Given the description of an element on the screen output the (x, y) to click on. 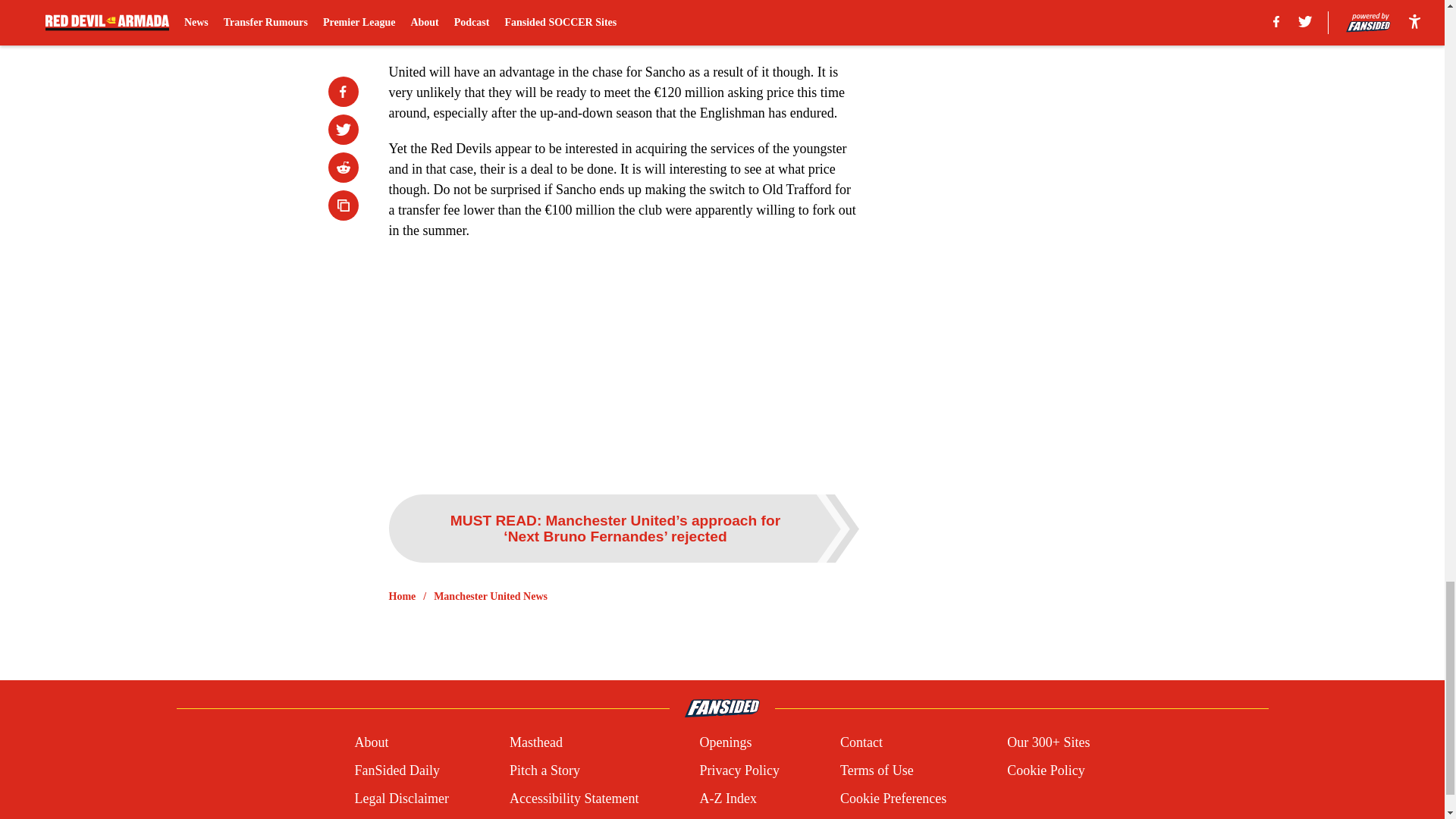
Home (401, 596)
Pitch a Story (544, 770)
Terms of Use (877, 770)
FanSided Daily (396, 770)
About (370, 742)
Manchester United News (490, 596)
Masthead (535, 742)
Cookie Policy (1045, 770)
Privacy Policy (738, 770)
Contact (861, 742)
Openings (724, 742)
